Given the description of an element on the screen output the (x, y) to click on. 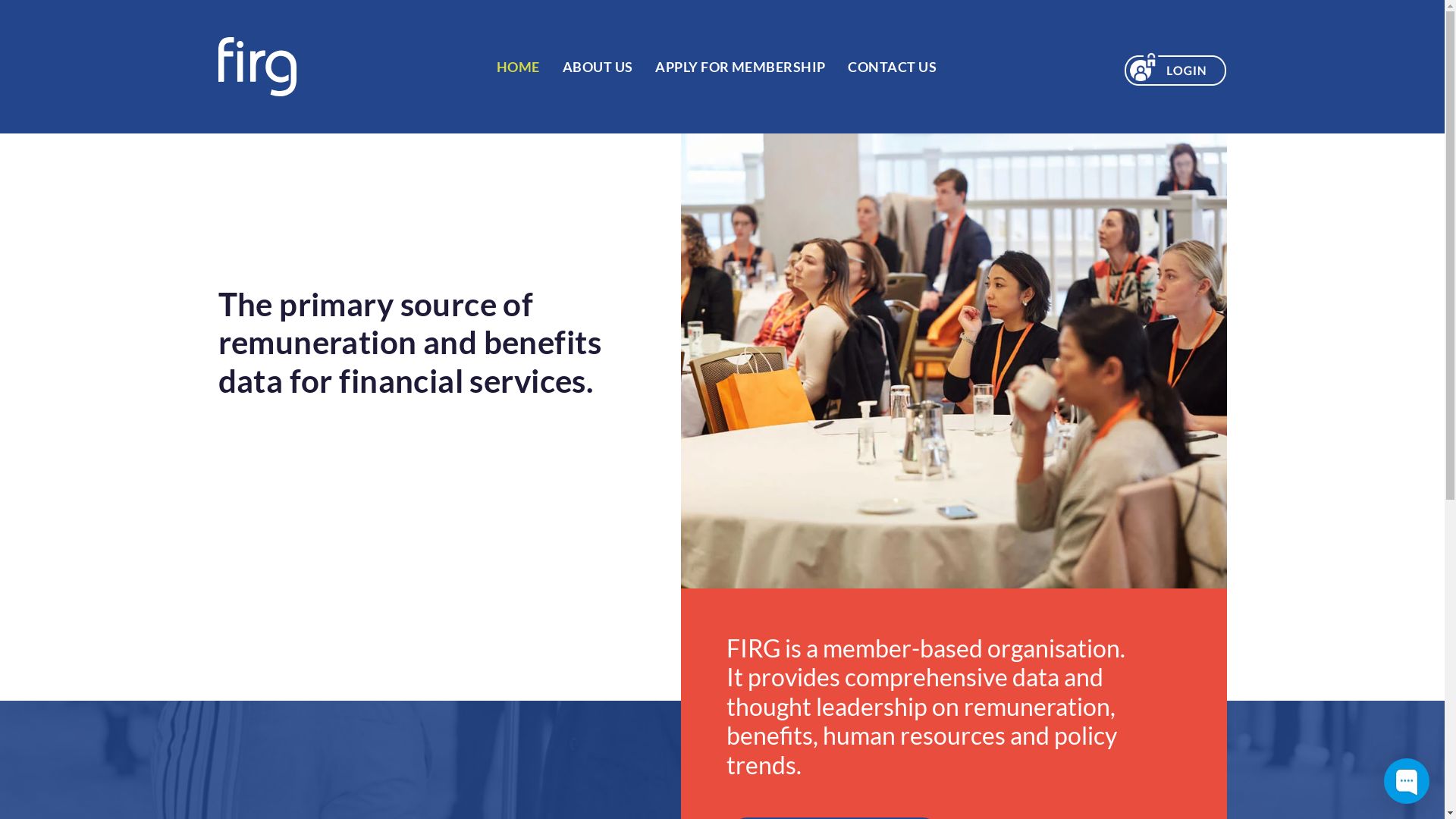
CONTACT US Element type: text (891, 65)
ABOUT US Element type: text (597, 65)
HOME Element type: text (517, 65)
APPLY FOR MEMBERSHIP Element type: text (740, 65)
